Given the description of an element on the screen output the (x, y) to click on. 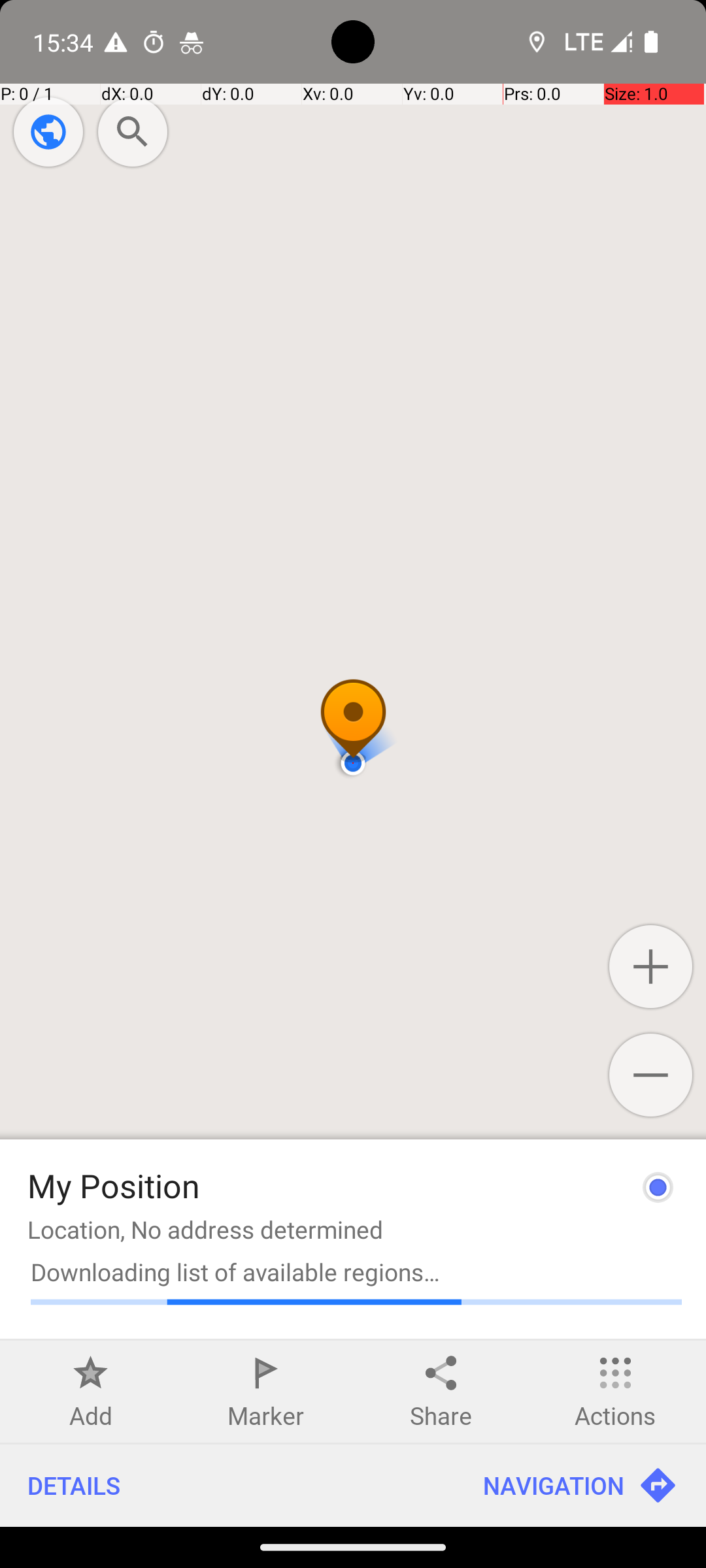
Map Element type: android.view.View (353, 763)
Zoom in Element type: android.widget.ImageButton (650, 966)
Zoom out Element type: android.widget.ImageButton (650, 1074)
My Position Element type: android.widget.TextView (113, 1185)
Location, No address determined Element type: android.widget.TextView (205, 1228)
DETAILS Element type: android.widget.TextView (227, 1485)
NAVIGATION Element type: android.widget.TextView (580, 1485)
Downloading list of available regions… Element type: android.widget.TextView (355, 1271)
Add Element type: android.widget.TextView (90, 1415)
Marker Element type: android.widget.TextView (265, 1415)
